Given the description of an element on the screen output the (x, y) to click on. 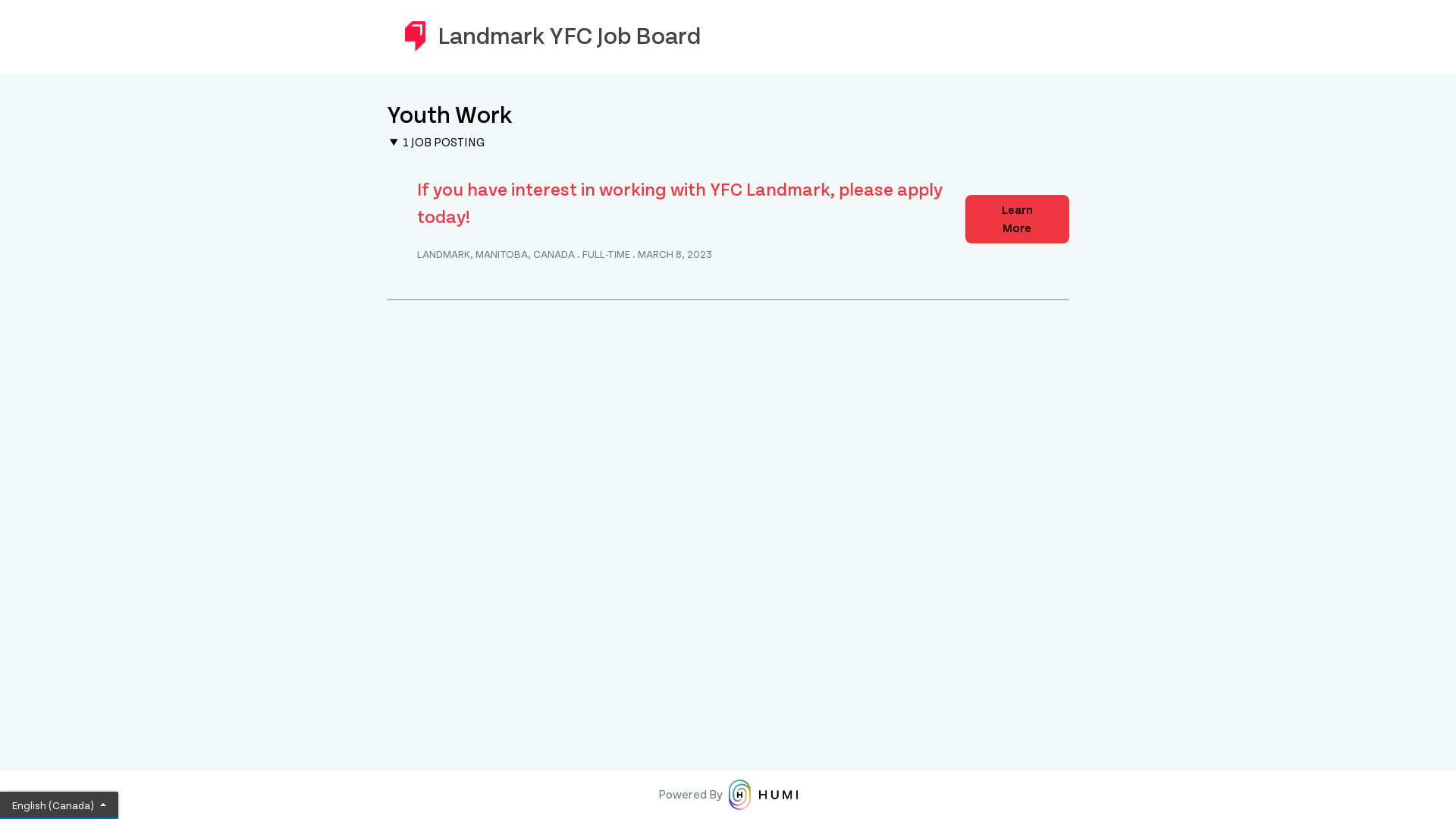
Landmark YFC Job Board Element type: text (727, 36)
Powered By Element type: text (727, 794)
Learn More Element type: text (1017, 218)
